Given the description of an element on the screen output the (x, y) to click on. 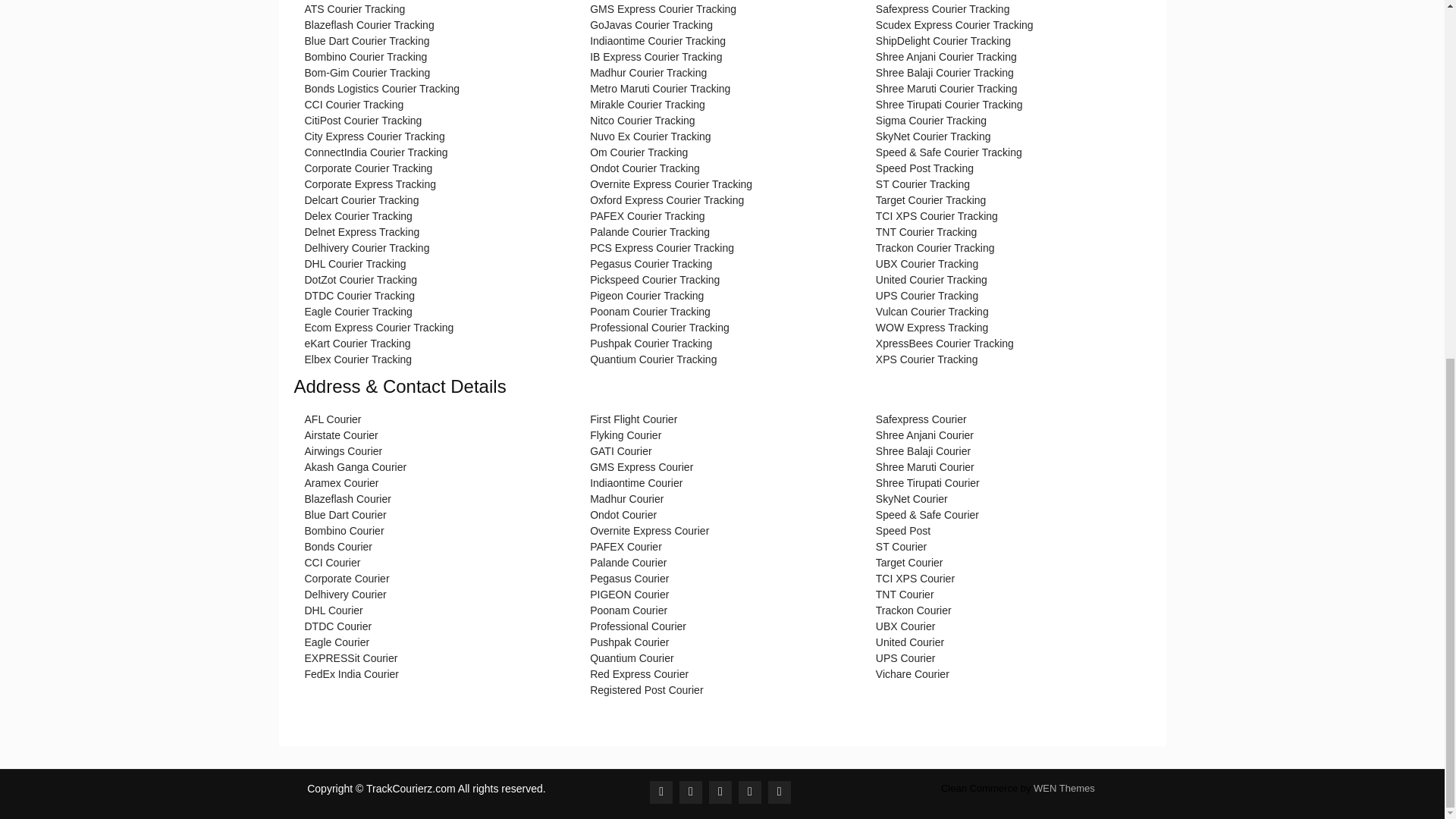
Bonds Logistics Courier Tracking (382, 88)
City Express Courier Tracking (374, 136)
Bom-Gim Courier Tracking (367, 72)
Blazeflash Courier Tracking (368, 24)
ATS Courier Tracking (355, 9)
CCI Courier Tracking (354, 104)
CitiPost Courier Tracking (363, 120)
Blue Dart Courier Tracking (366, 40)
ConnectIndia Courier Tracking (376, 152)
Bombino Courier Tracking (366, 56)
Corporate Express Tracking (370, 184)
Corporate Courier Tracking (368, 168)
